Given the description of an element on the screen output the (x, y) to click on. 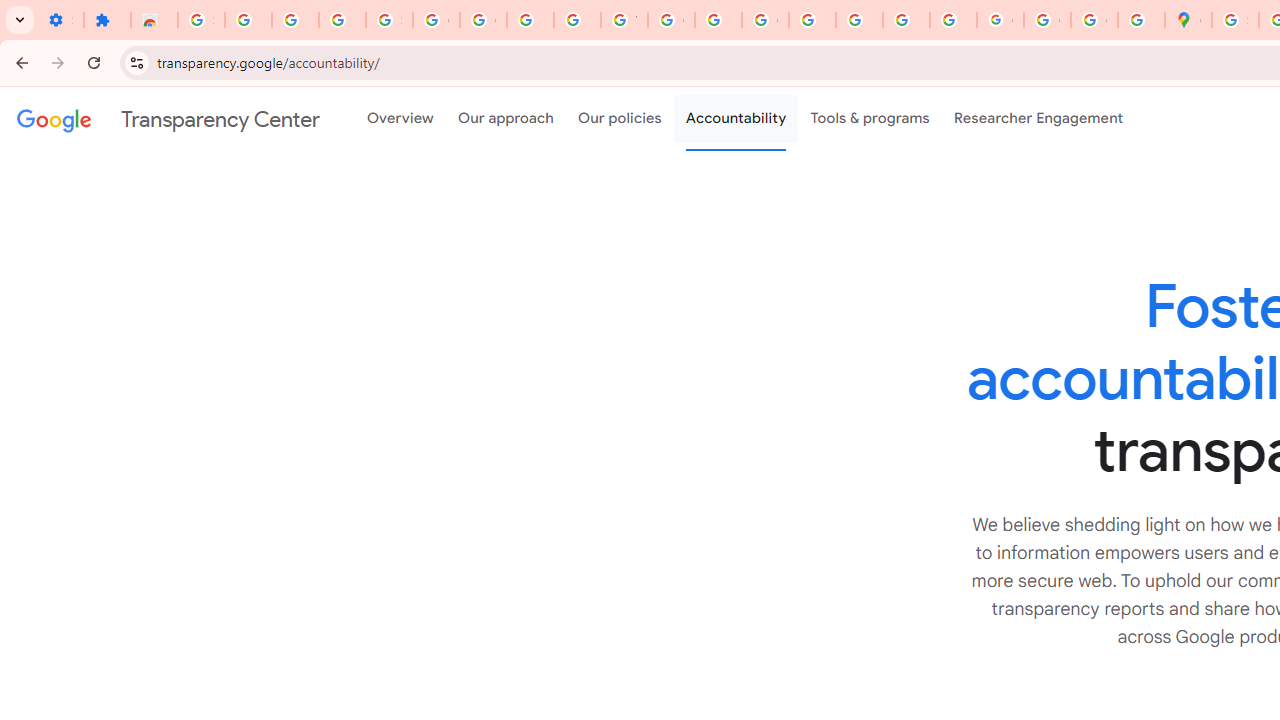
https://scholar.google.com/ (718, 20)
Google Account Help (436, 20)
Sign in - Google Accounts (201, 20)
